Given the description of an element on the screen output the (x, y) to click on. 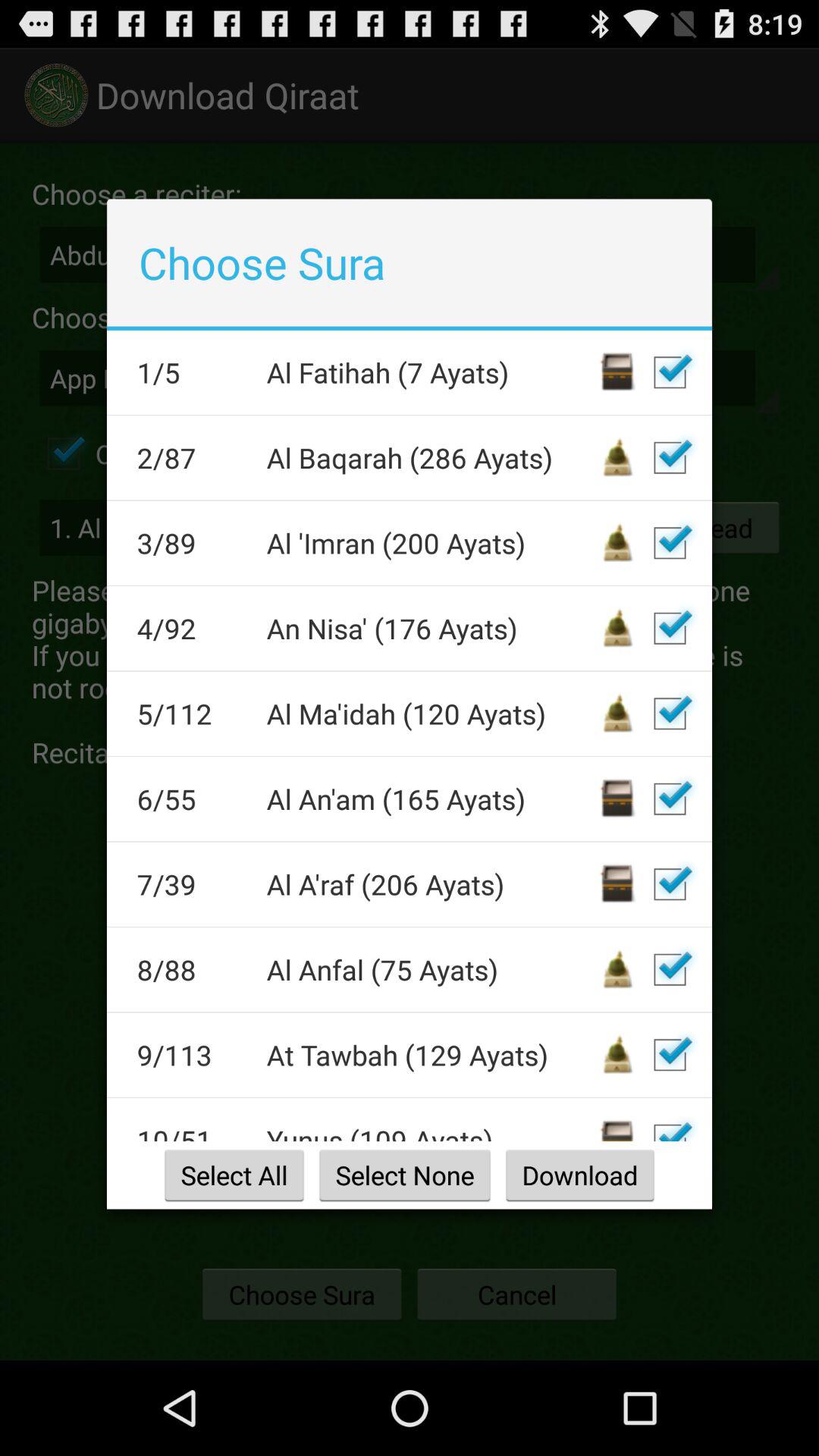
click to add (669, 884)
